Given the description of an element on the screen output the (x, y) to click on. 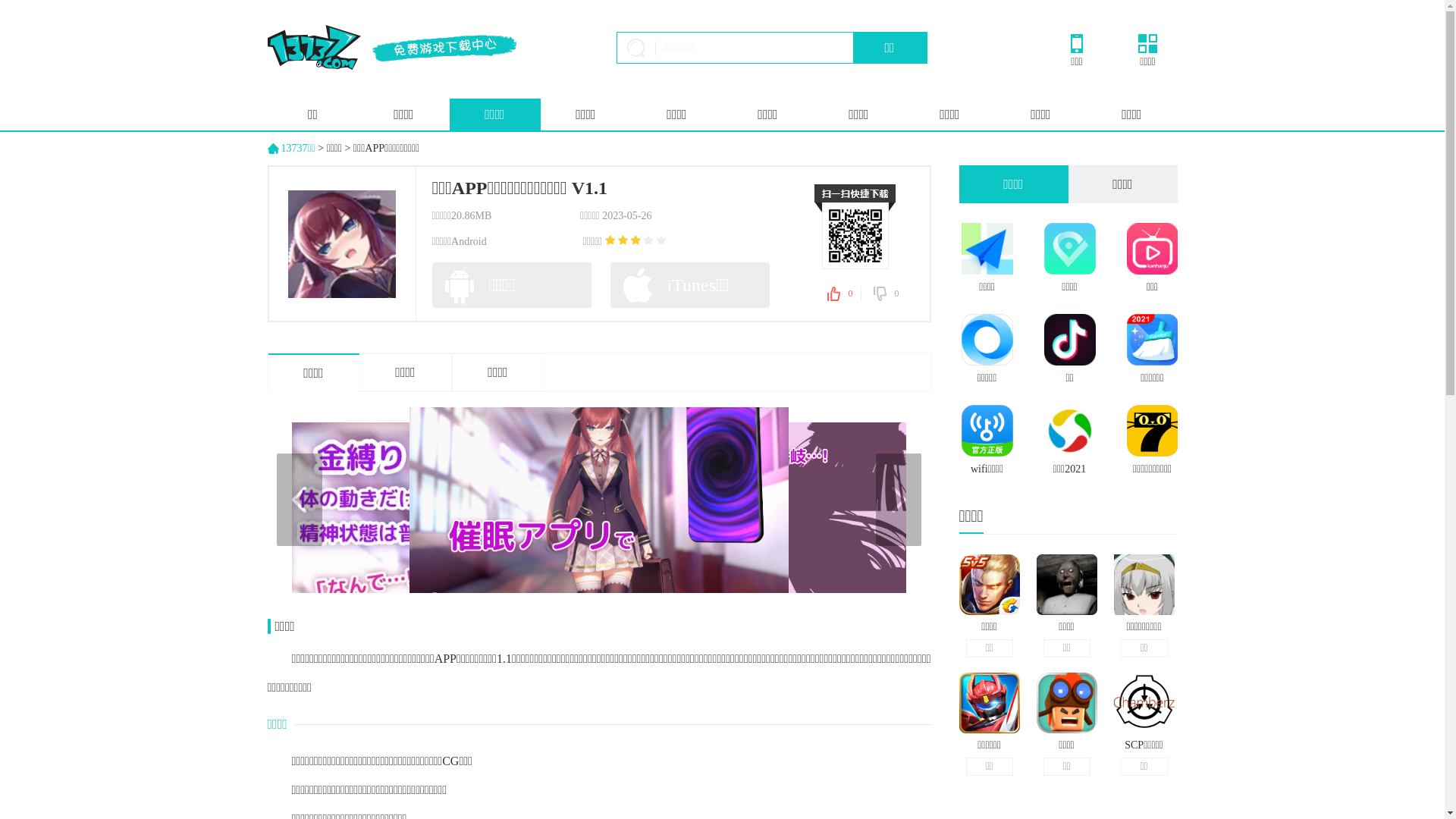
0 Element type: text (843, 293)
0 Element type: text (886, 293)
